Given the description of an element on the screen output the (x, y) to click on. 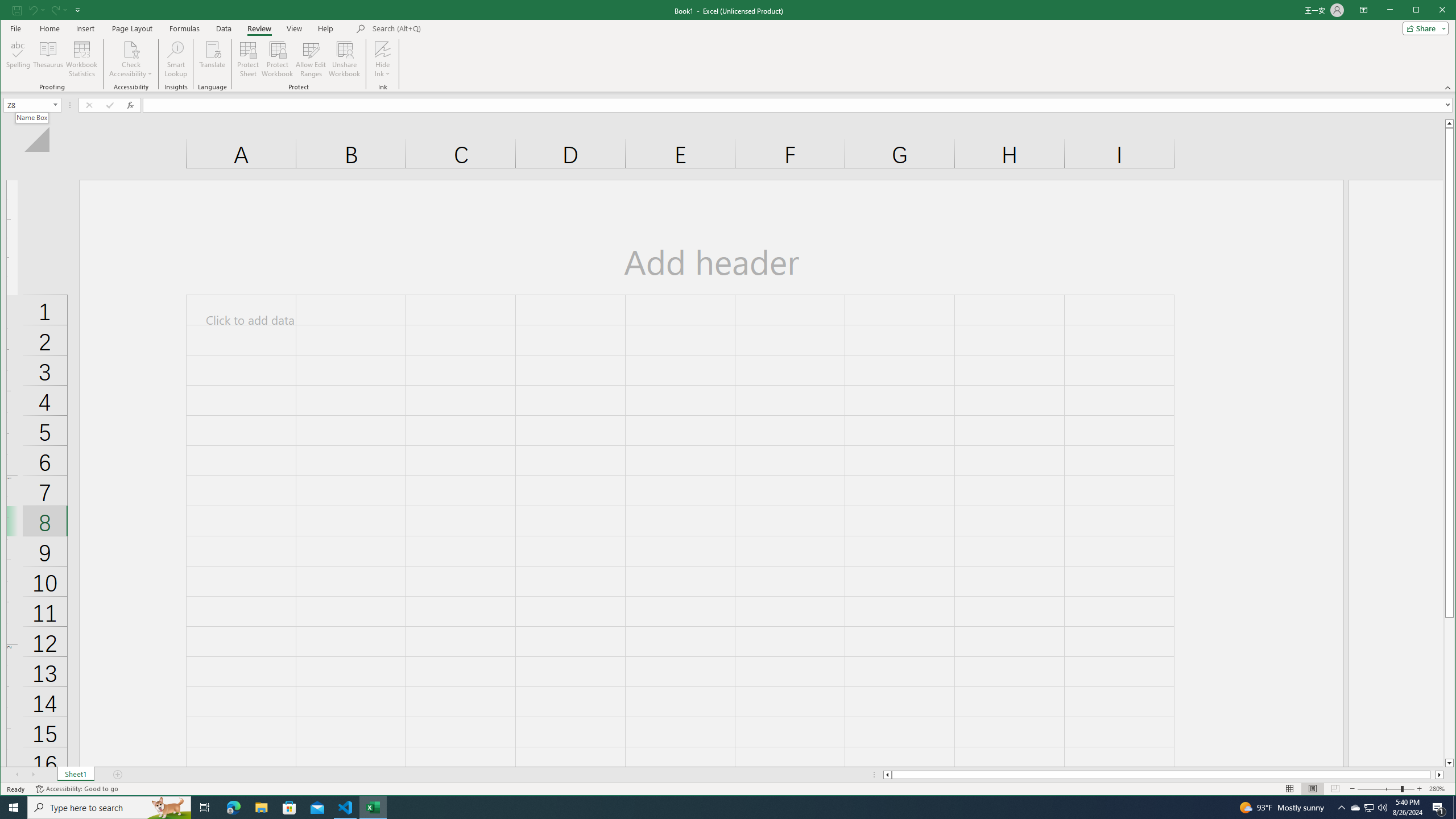
Task View (1355, 807)
Hide Ink (204, 807)
Thesaurus... (382, 59)
Hide Ink (48, 59)
User Promoted Notification Area (382, 48)
